Given the description of an element on the screen output the (x, y) to click on. 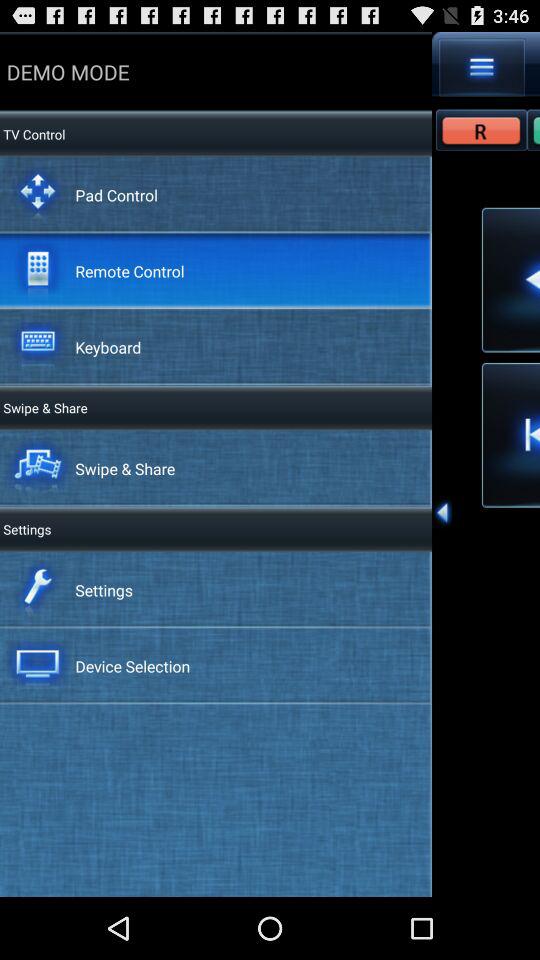
press the  tv control (32, 133)
